Given the description of an element on the screen output the (x, y) to click on. 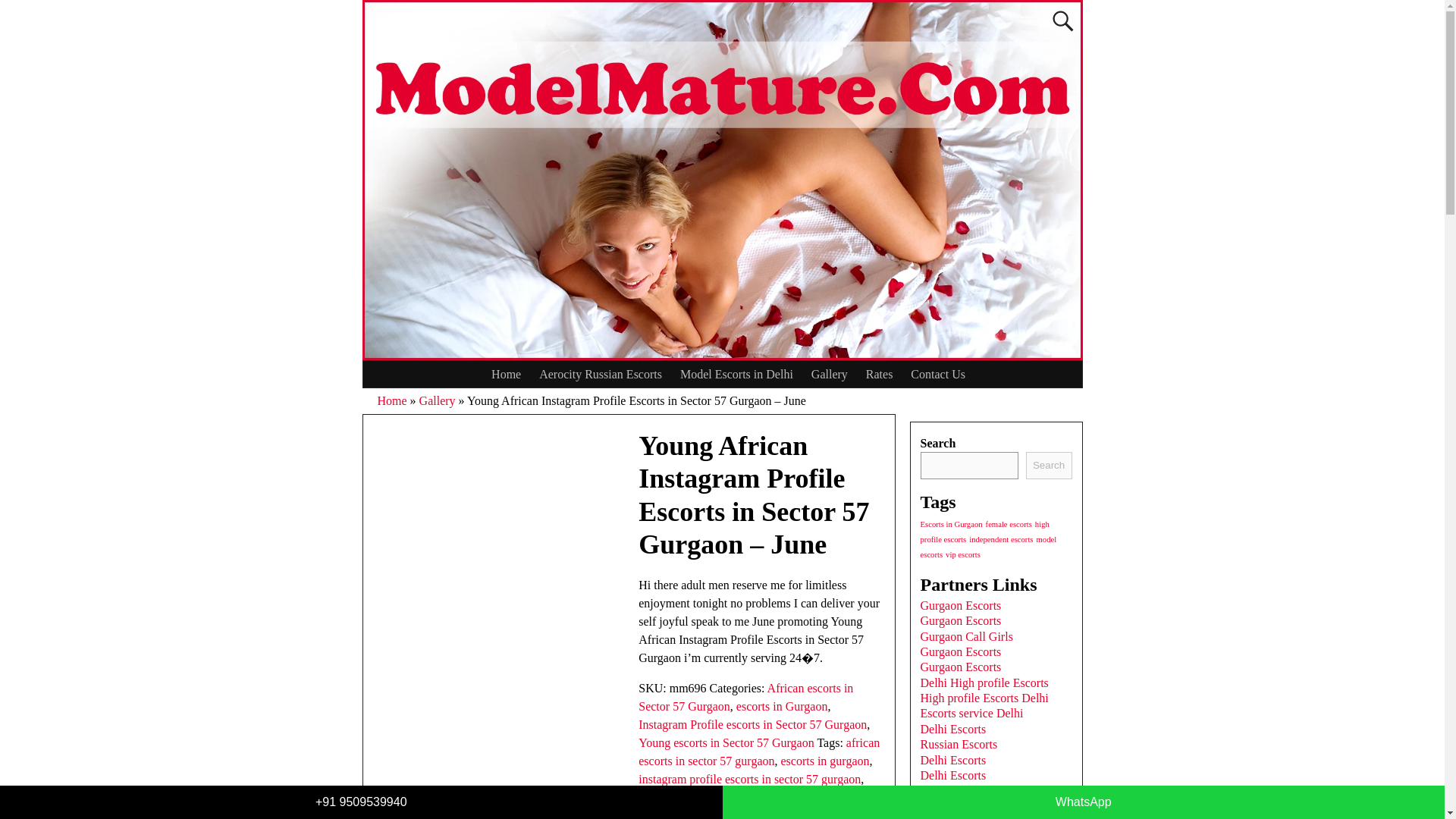
Home (505, 374)
Contact Us (937, 374)
instagram profile escorts in sector 57 gurgaon (749, 779)
Gallery (437, 400)
african escorts in sector 57 gurgaon (759, 751)
escorts in Gurgaon (782, 706)
young escorts in sector 57 gurgaon (723, 797)
Rates (879, 374)
Model Escorts in Delhi (736, 374)
Gallery (829, 374)
